Given the description of an element on the screen output the (x, y) to click on. 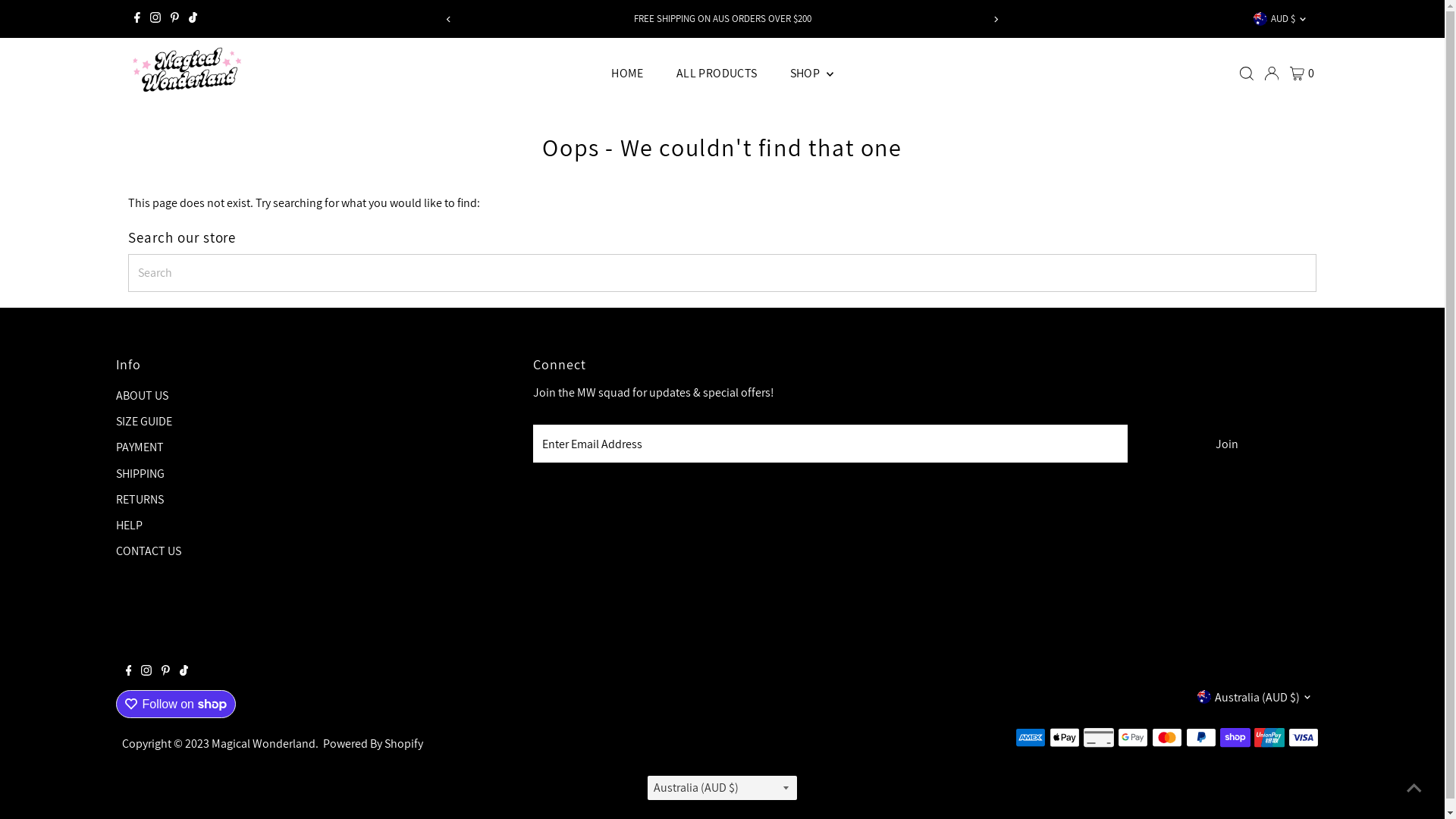
AUD $ Element type: text (1281, 18)
ALL PRODUCTS Element type: text (716, 73)
CONTACT US Element type: text (147, 550)
ABOUT US Element type: text (141, 395)
SHIPPING Element type: text (139, 473)
SIZE GUIDE Element type: text (143, 421)
RETURNS Element type: text (139, 499)
HOME Element type: text (627, 73)
Join Element type: text (1226, 443)
Australia (AUD $) Element type: text (1255, 696)
Powered By Shopify Element type: text (373, 743)
0 Element type: text (1301, 73)
HELP Element type: text (128, 525)
Magical Wonderland Element type: text (263, 743)
PAYMENT Element type: text (139, 447)
